Given the description of an element on the screen output the (x, y) to click on. 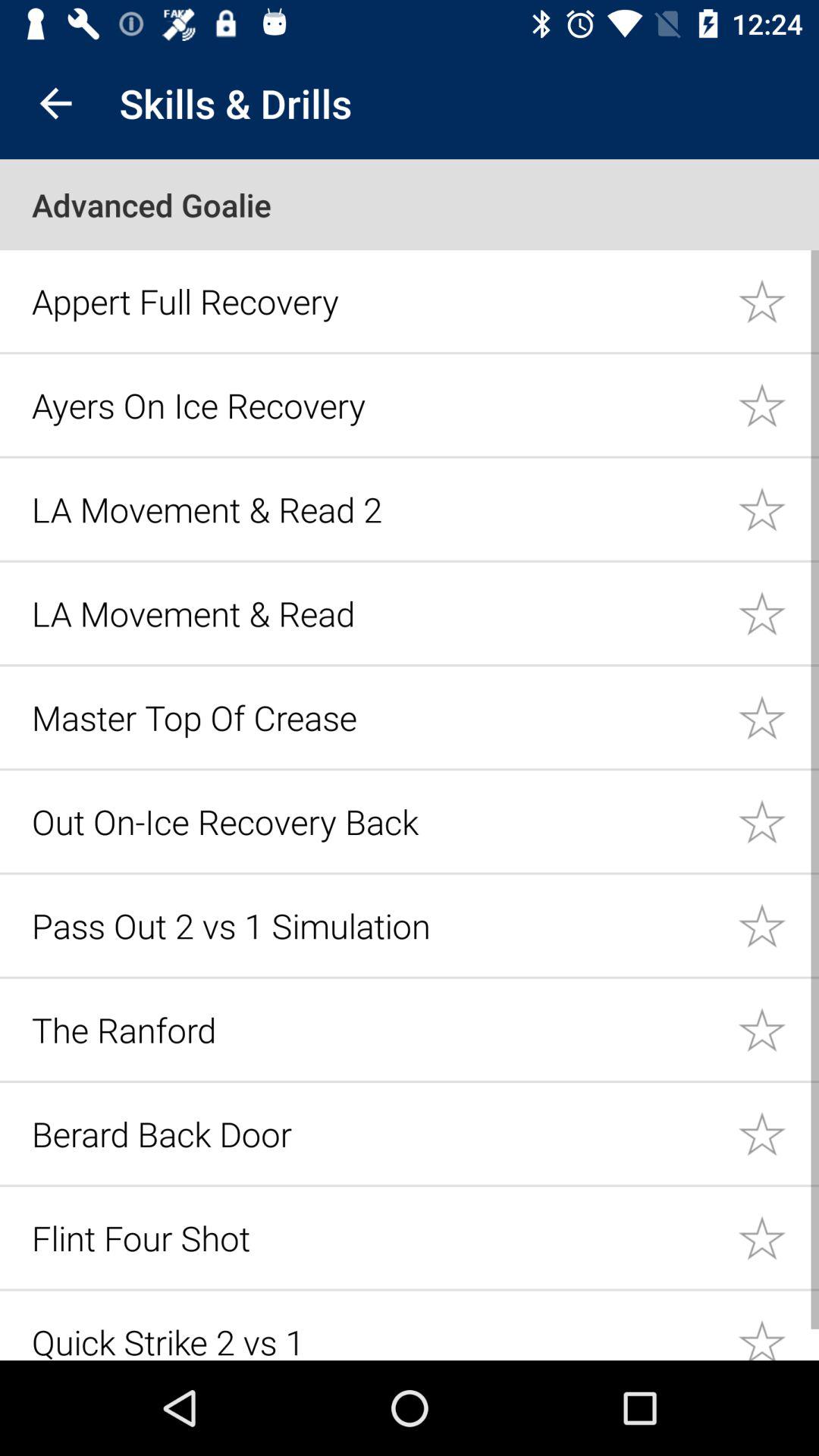
scroll to the pass out 2 (376, 925)
